Given the description of an element on the screen output the (x, y) to click on. 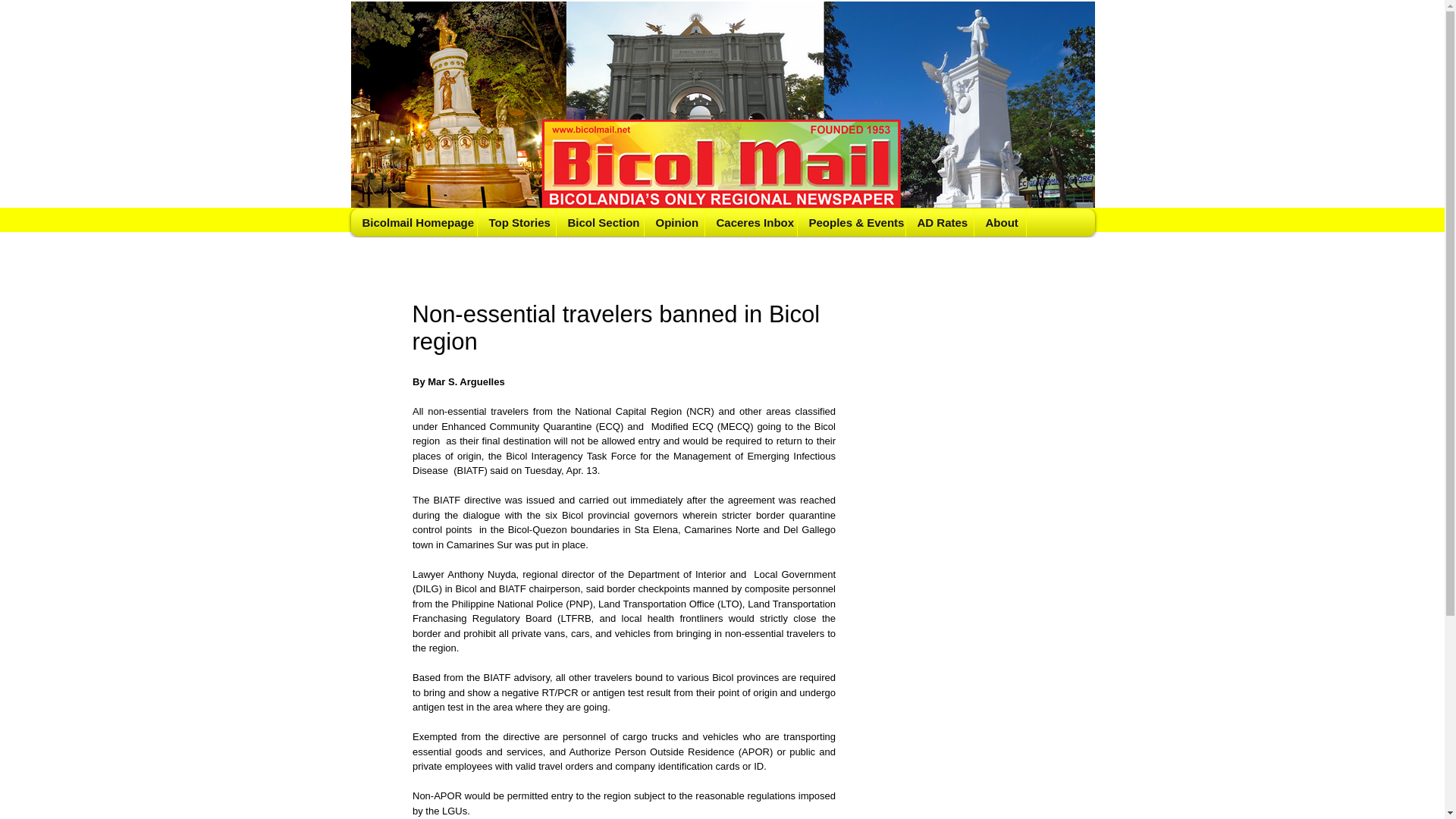
Top Stories (515, 222)
Caceres Inbox (749, 222)
AD Rates (939, 222)
About (1000, 222)
Bicolmail Homepage (414, 222)
Bicol Section (599, 222)
Opinion (673, 222)
